Given the description of an element on the screen output the (x, y) to click on. 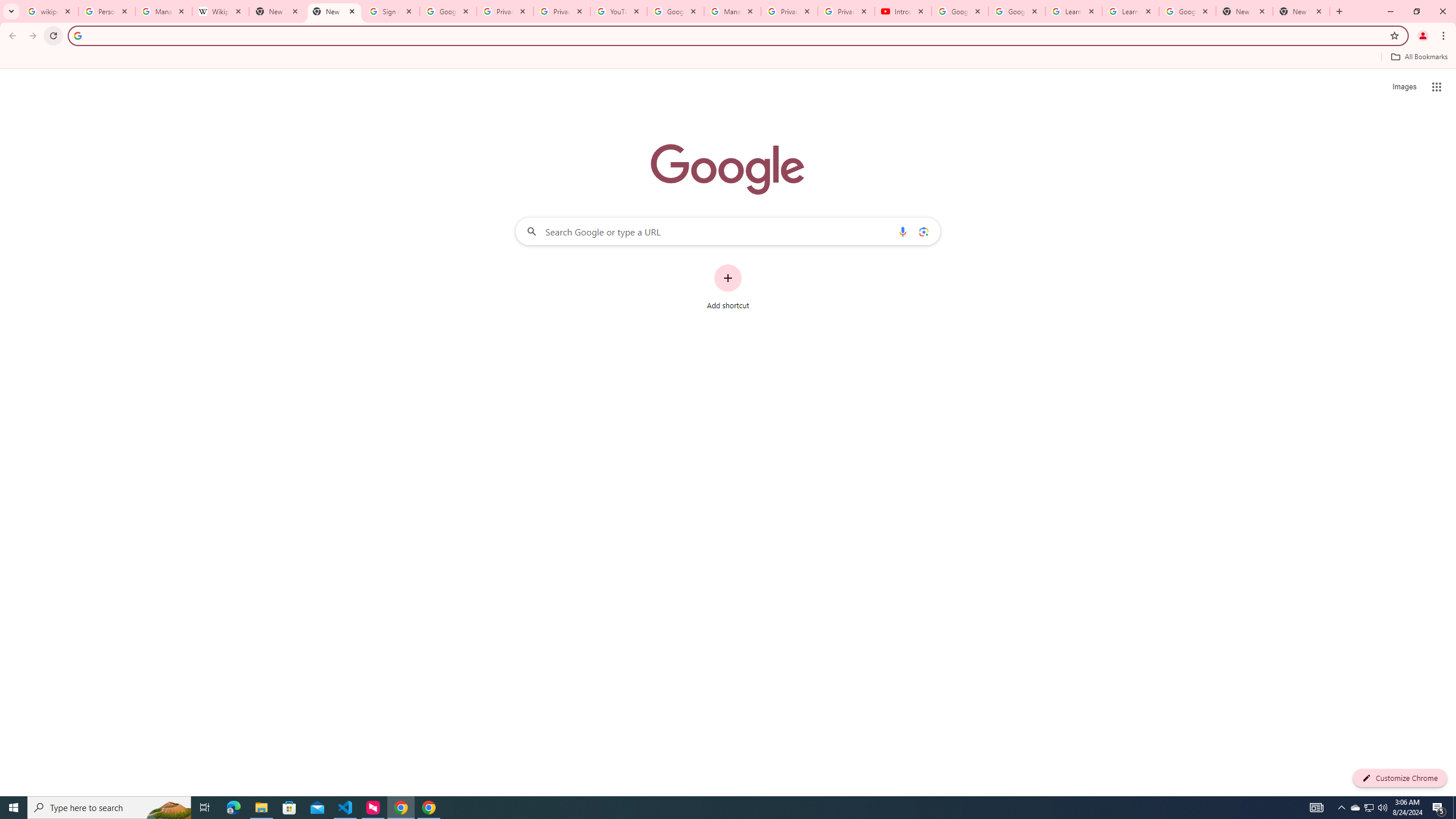
Google Account Help (675, 11)
